Given the description of an element on the screen output the (x, y) to click on. 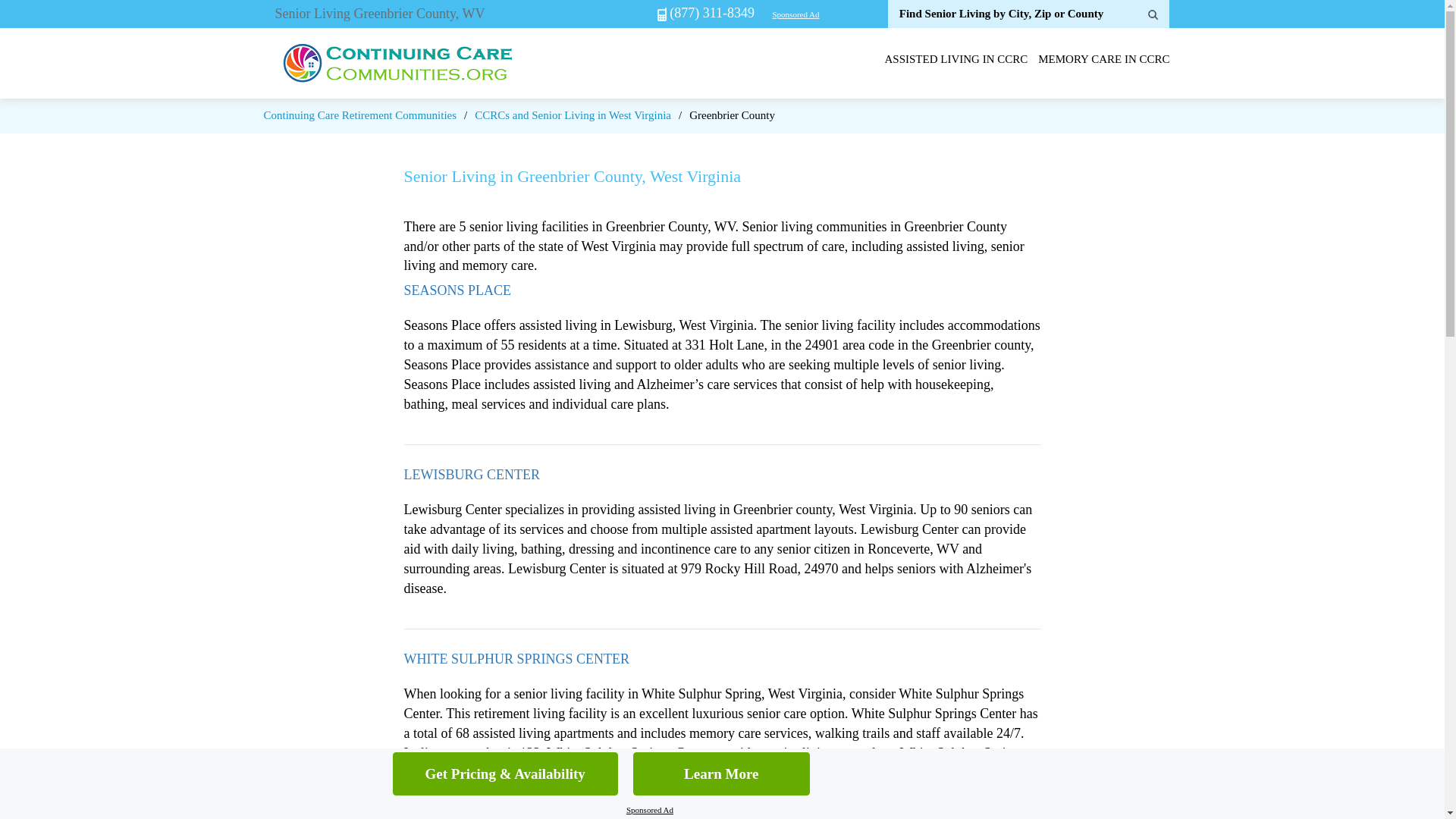
Sponsored Ad (649, 809)
CCRCs and Senior Living in West Virginia (572, 114)
Continuing Care Retirement Communities (360, 114)
ASSISTED LIVING IN CCRC (955, 59)
Learn More (721, 773)
Sponsored Ad (794, 14)
CCRCs and Senior Living in West Virginia (572, 114)
MEMORY CARE IN CCRC (1103, 59)
Continuing Care Retirement Communities (360, 114)
Learn More (721, 773)
